Given the description of an element on the screen output the (x, y) to click on. 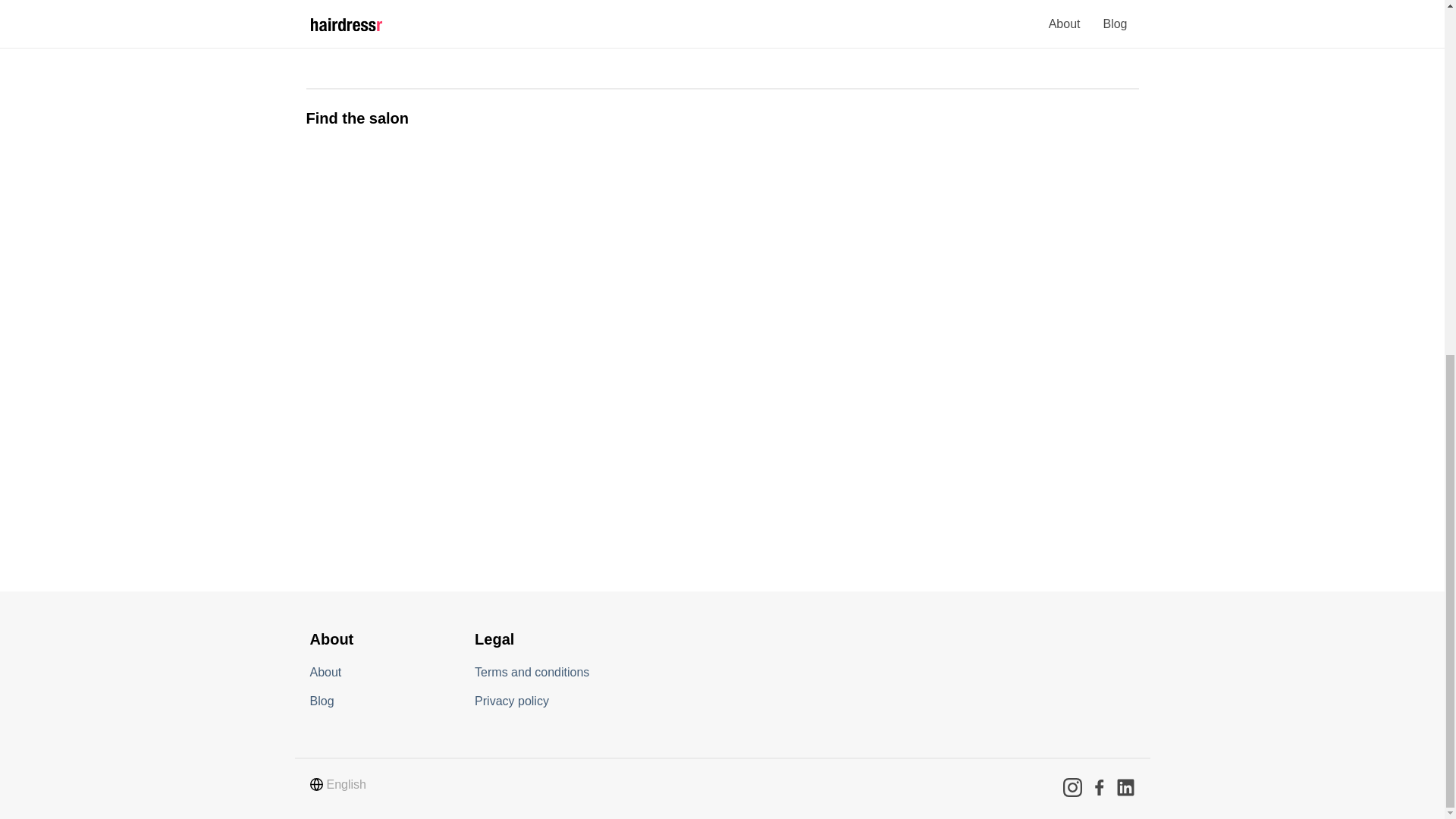
Blog (320, 699)
Privacy policy (511, 699)
About (324, 671)
Terms and conditions (531, 671)
